Given the description of an element on the screen output the (x, y) to click on. 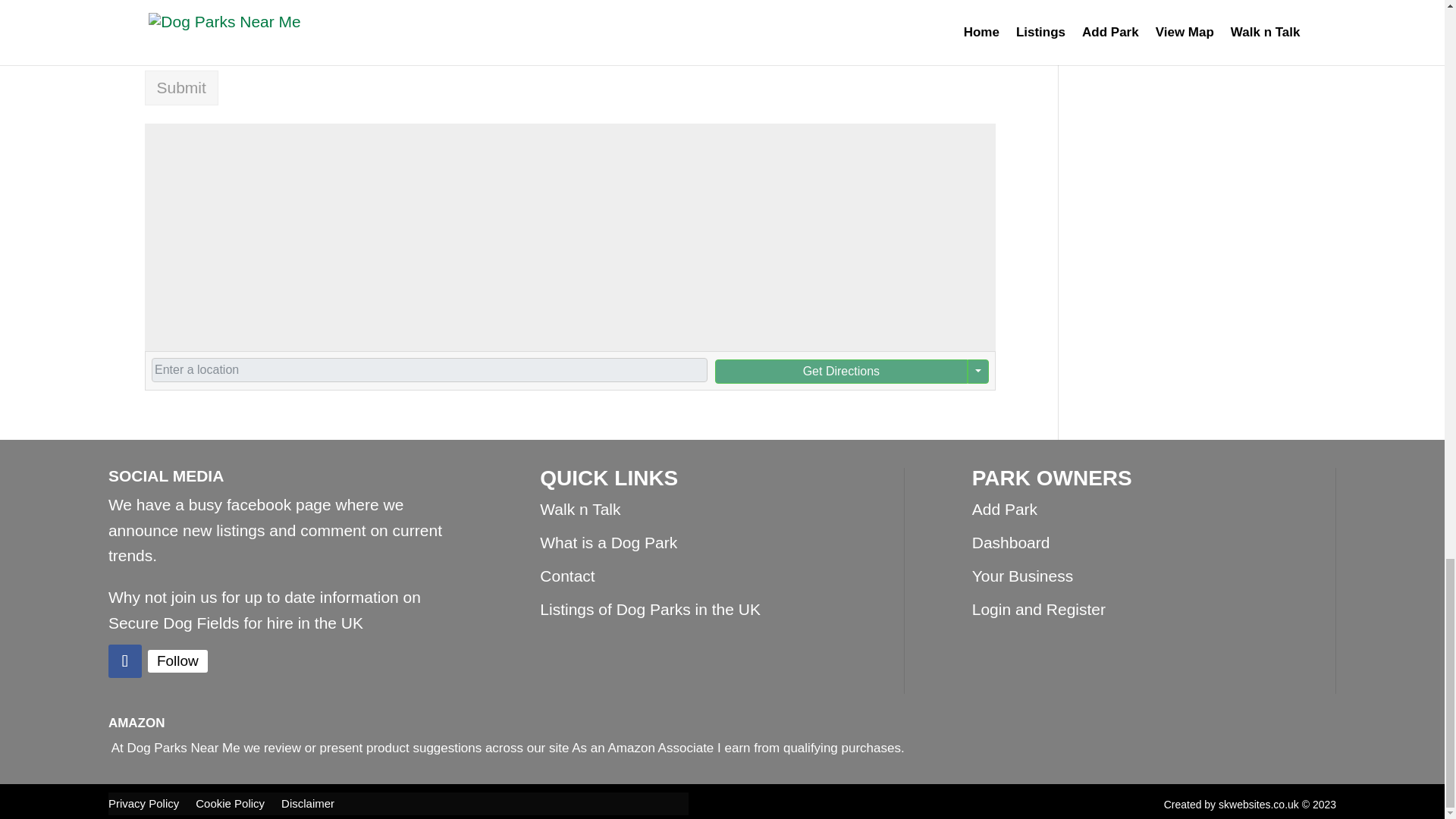
Facebook (178, 661)
Dashboard (1010, 542)
Listings of Dog Parks in the UK (650, 609)
Get Directions (840, 371)
What is a Dog Park (608, 542)
Add Park (1004, 508)
Submit (180, 87)
Contact (567, 575)
Follow (178, 661)
Your Business (1022, 575)
Walk n Talk (580, 508)
Follow on Facebook (124, 661)
skwebsites.co.uk (1258, 804)
